Given the description of an element on the screen output the (x, y) to click on. 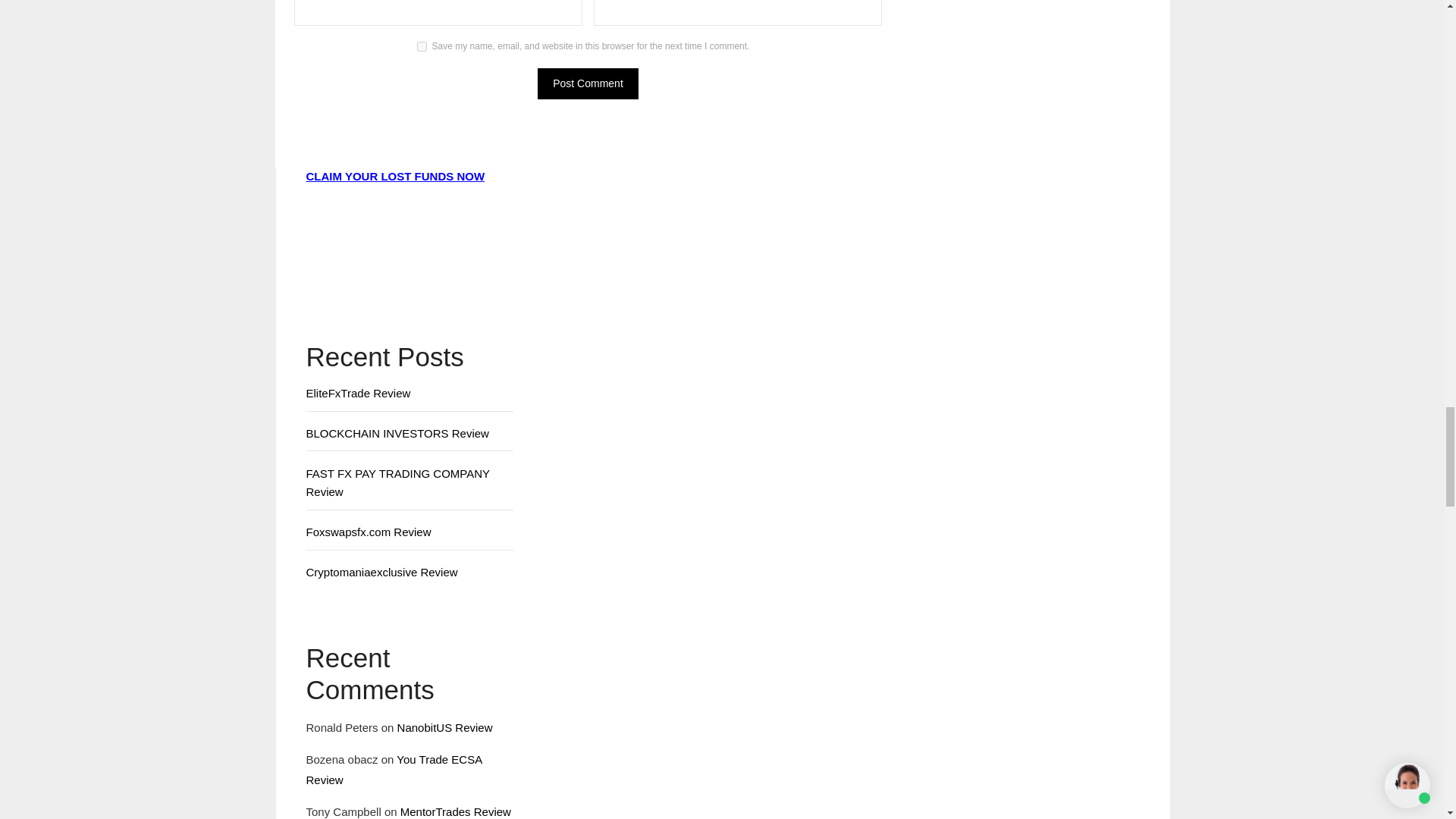
NanobitUS Review (445, 727)
yes (421, 46)
Post Comment (588, 83)
You Trade ECSA Review (393, 769)
FAST FX PAY TRADING COMPANY Review (397, 481)
BLOCKCHAIN INVESTORS Review (397, 432)
MentorTrades Review (455, 811)
Post Comment (588, 83)
CLAIM YOUR LOST FUNDS NOW (394, 175)
EliteFxTrade Review (357, 392)
